Given the description of an element on the screen output the (x, y) to click on. 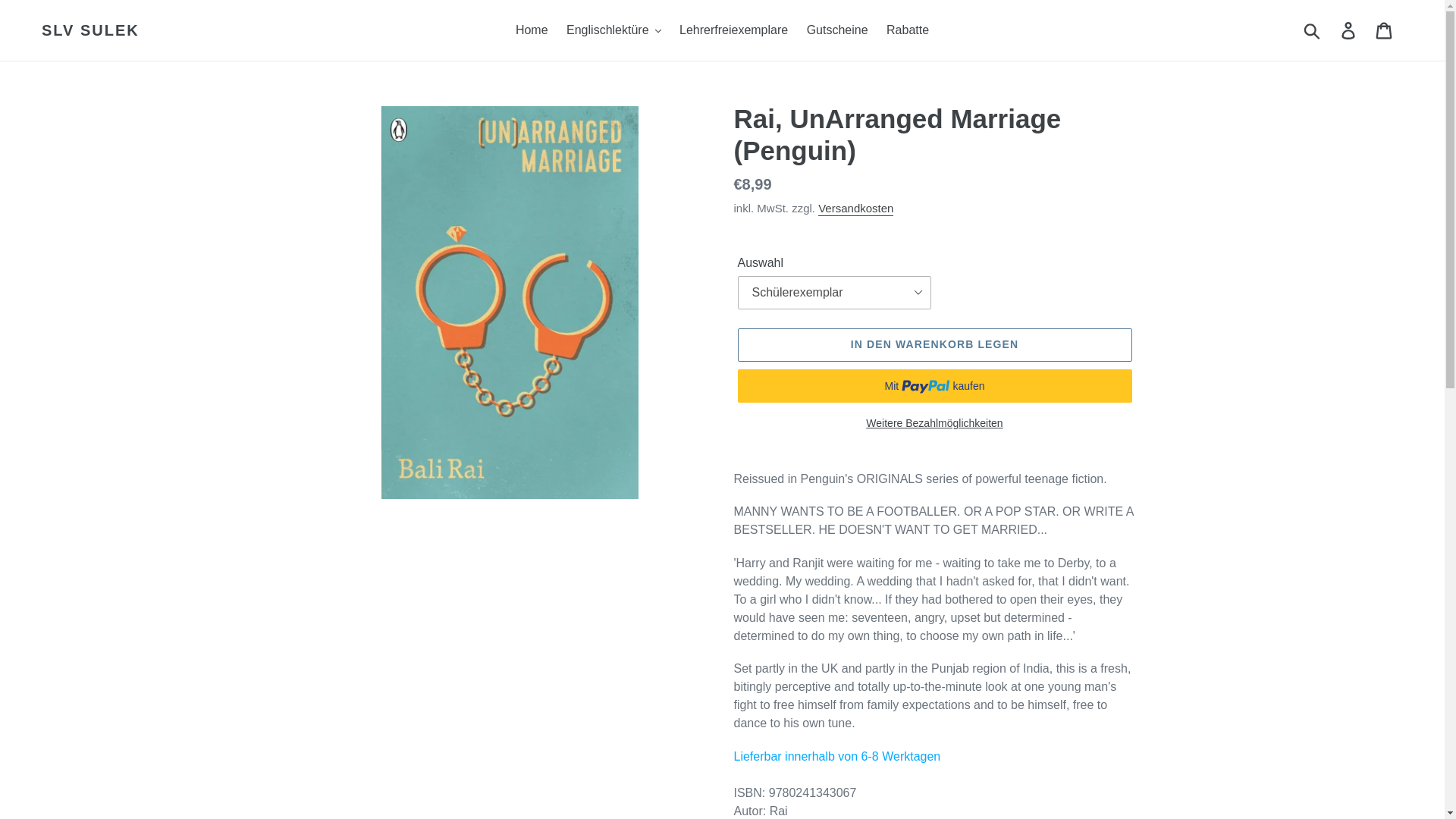
Einloggen (1349, 29)
SLV SULEK (90, 30)
Rabatte (907, 29)
Versandkosten (855, 208)
Suchen (1313, 29)
Gutscheine (837, 29)
Lehrerfreiexemplare (732, 29)
Warenkorb (1385, 29)
IN DEN WARENKORB LEGEN (933, 344)
Home (532, 29)
